Given the description of an element on the screen output the (x, y) to click on. 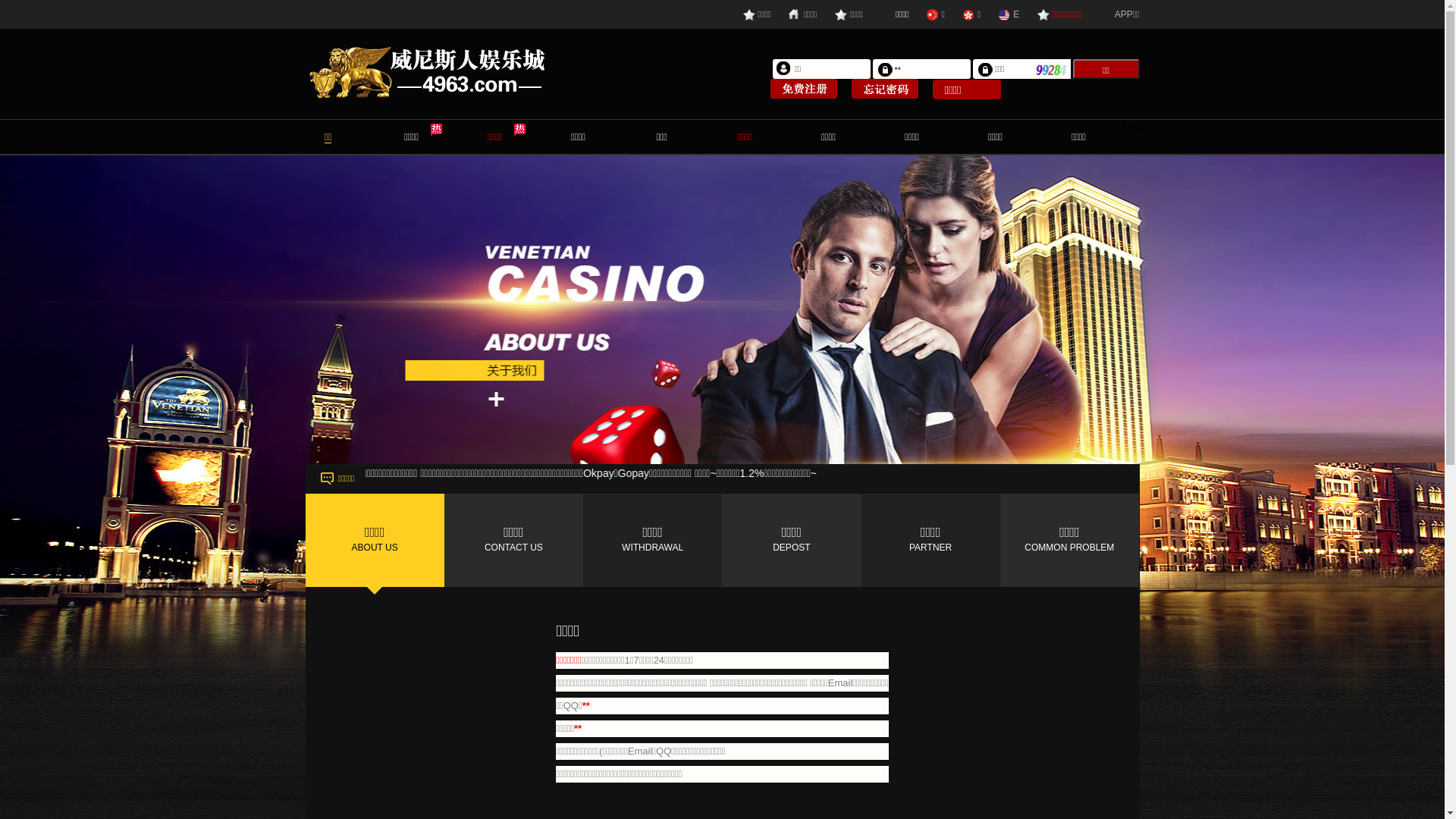
E Element type: text (1008, 14)
